Given the description of an element on the screen output the (x, y) to click on. 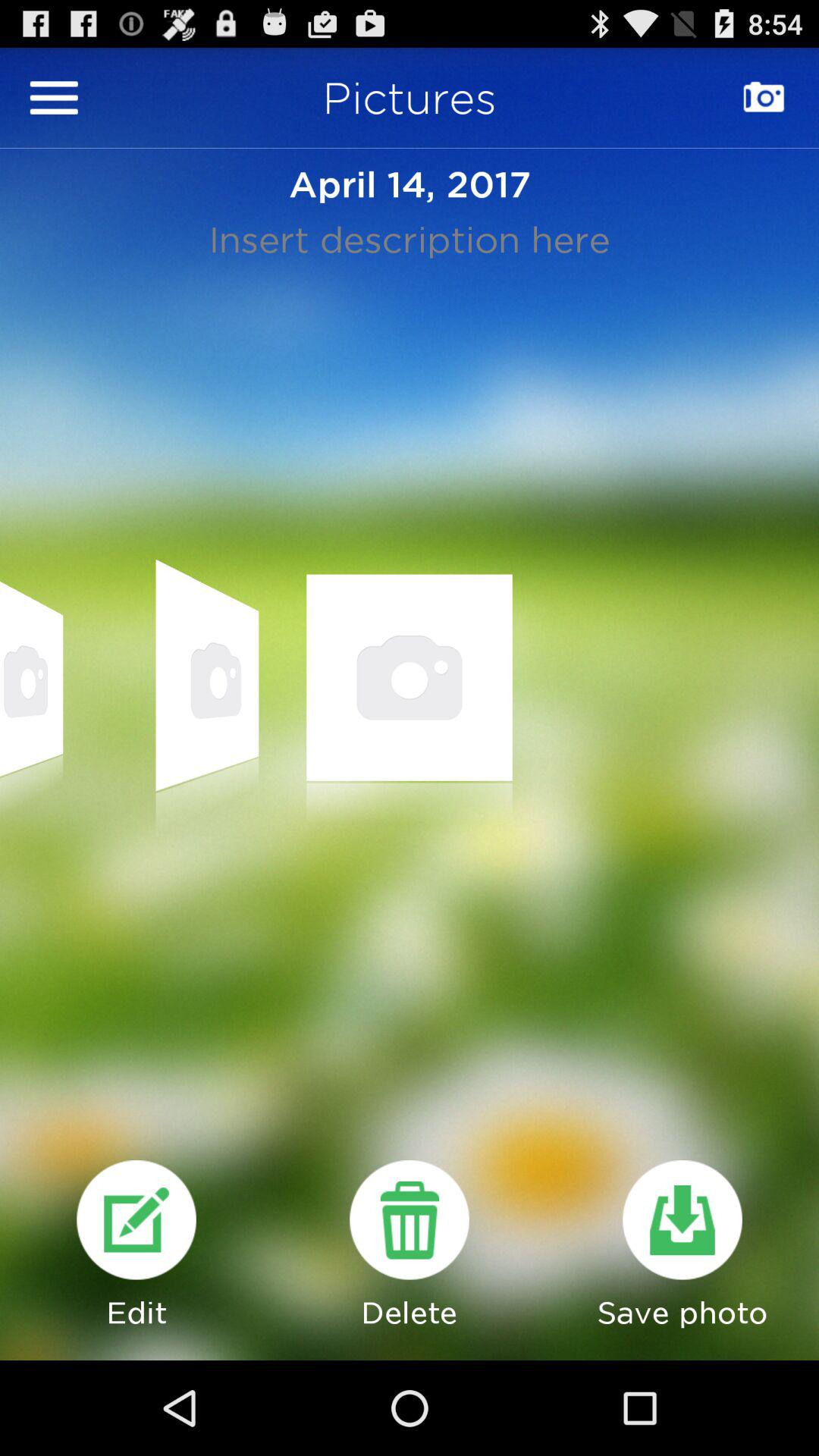
toggle option menu (53, 97)
